Given the description of an element on the screen output the (x, y) to click on. 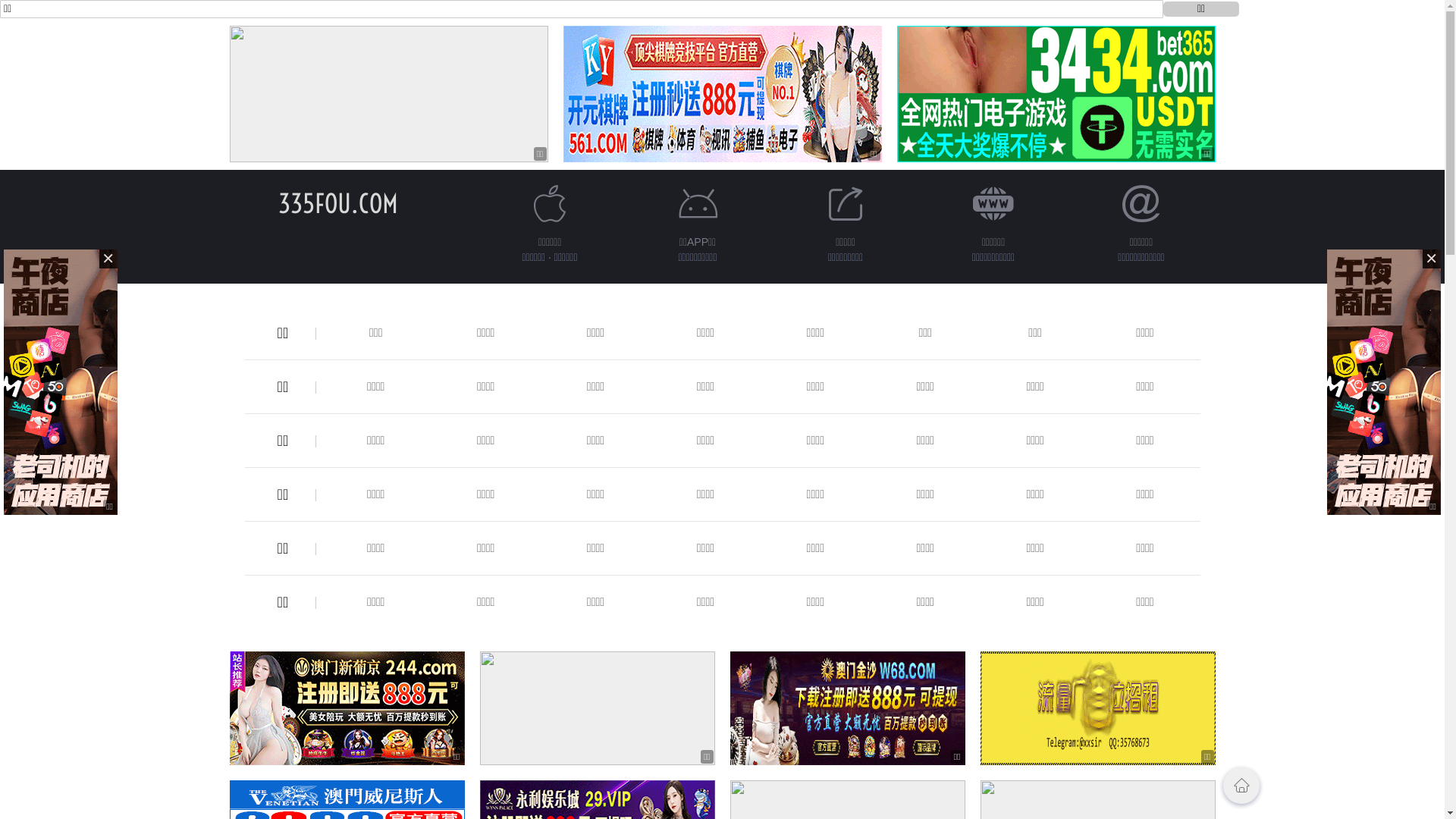
335FOU.COM Element type: text (337, 203)
